Given the description of an element on the screen output the (x, y) to click on. 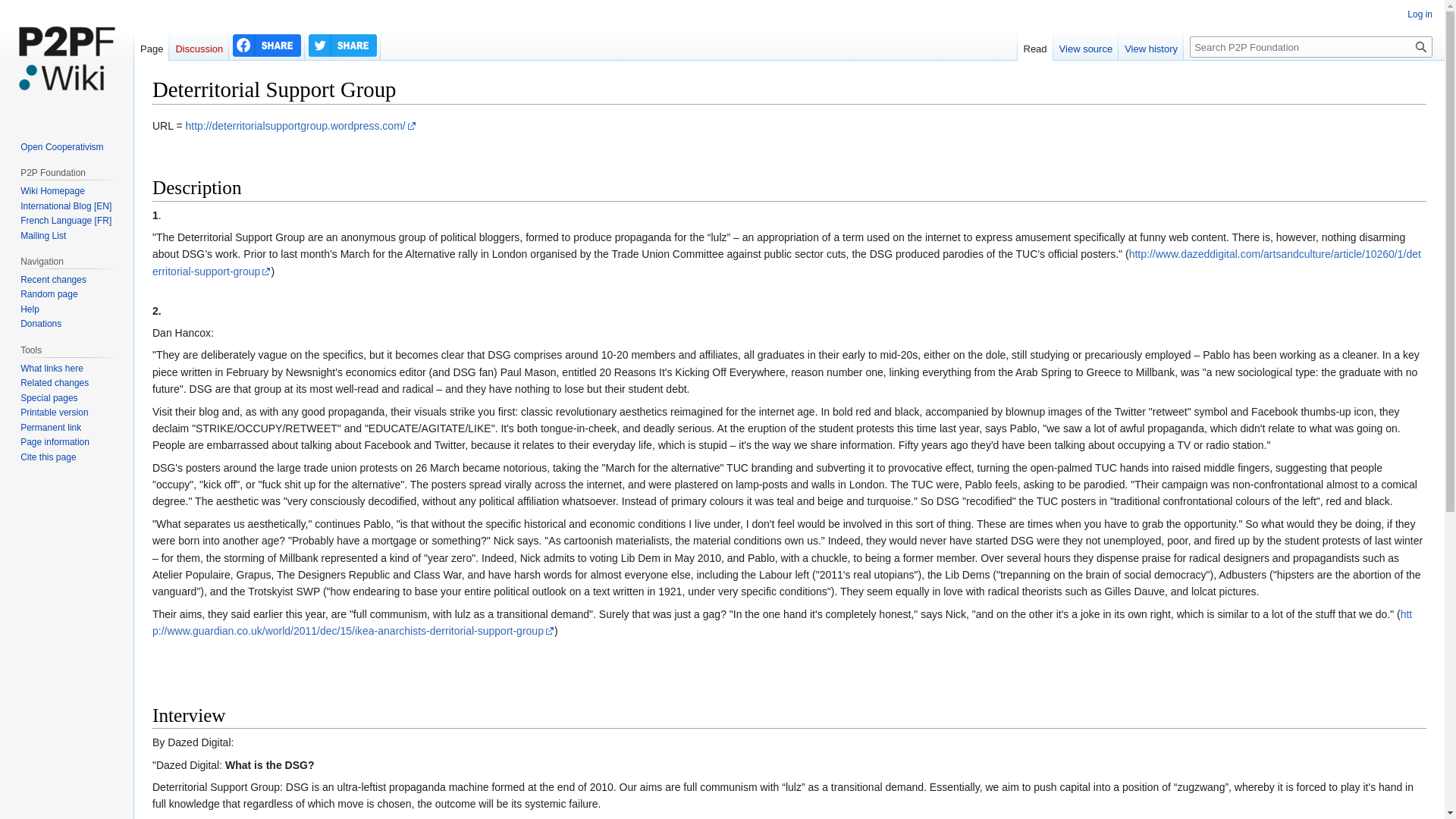
Help (29, 308)
Page (150, 45)
Mailing List (42, 235)
Search (1420, 46)
Special pages (48, 398)
Wiki Homepage (52, 190)
Related changes (54, 382)
Visit the main page (66, 60)
Go (1420, 46)
